Given the description of an element on the screen output the (x, y) to click on. 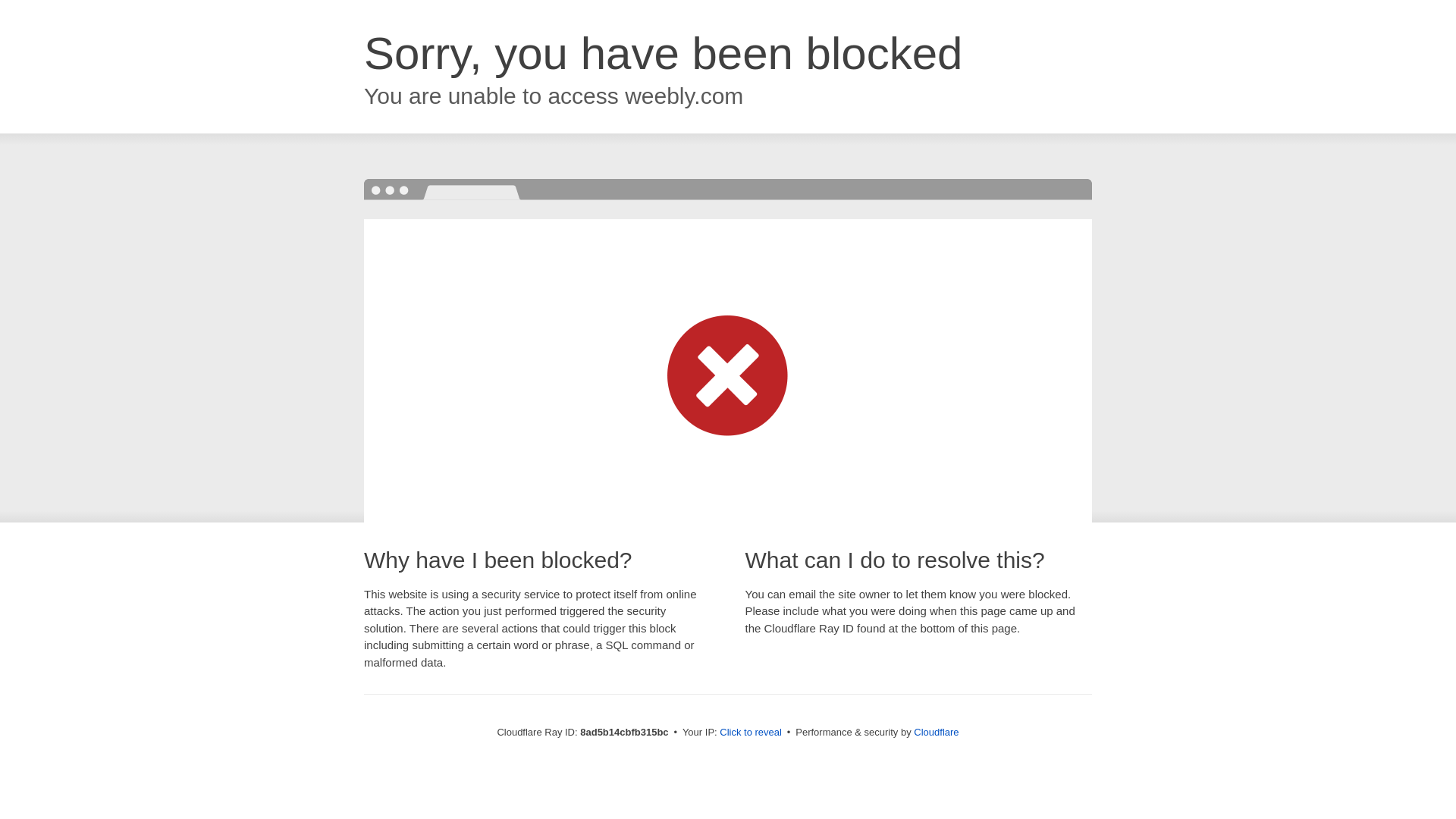
Click to reveal (750, 732)
Cloudflare (936, 731)
